Given the description of an element on the screen output the (x, y) to click on. 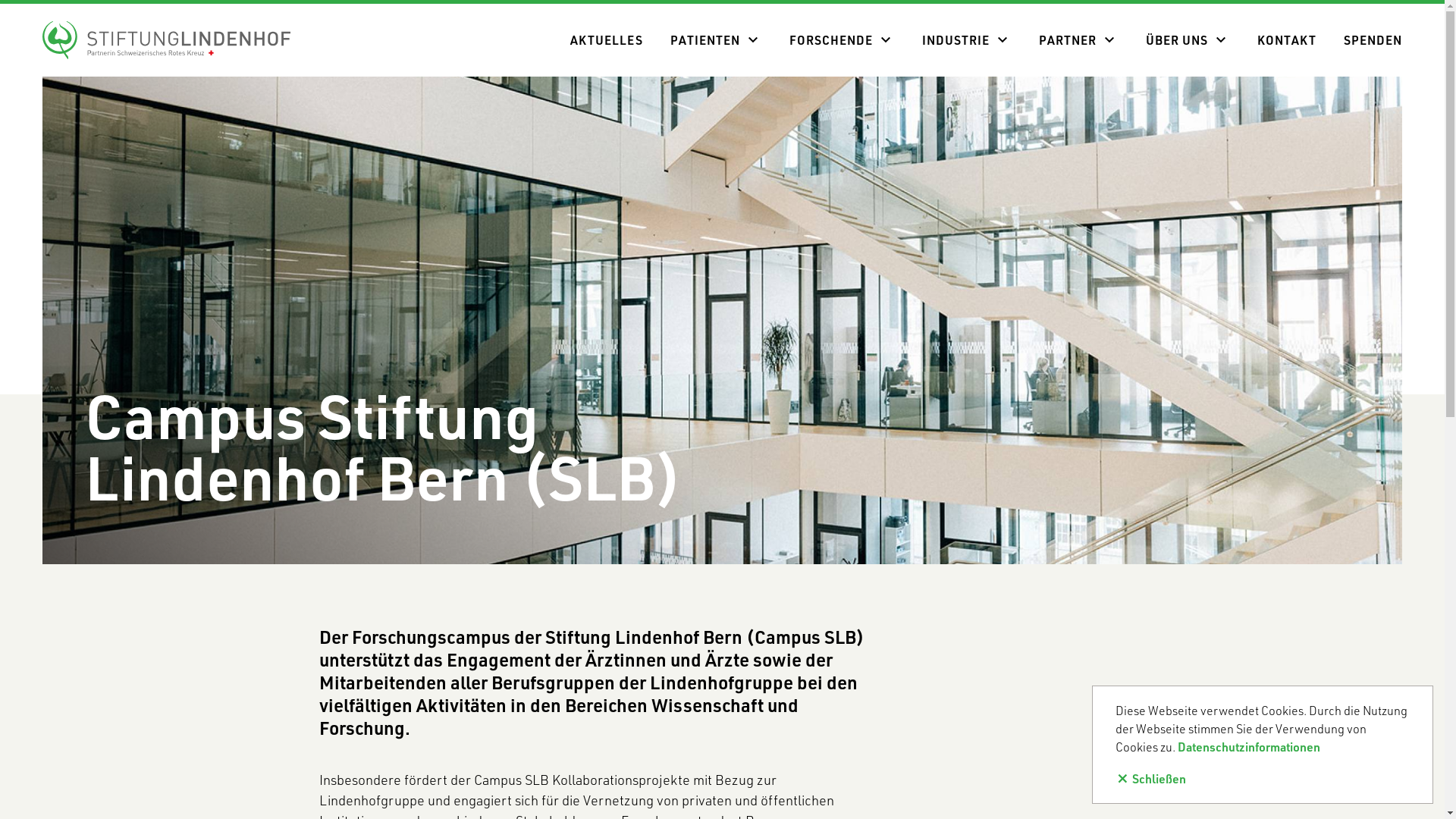
SPENDEN Element type: text (1366, 39)
Zur Startseite Element type: hover (166, 40)
Datenschutzinformationen Element type: text (1248, 746)
INDUSTRIE Element type: text (950, 39)
PATIENTEN Element type: text (699, 39)
FORSCHENDE Element type: text (825, 39)
KONTAKT Element type: text (1286, 39)
PARTNER Element type: text (1062, 39)
AKTUELLES Element type: text (606, 39)
